Given the description of an element on the screen output the (x, y) to click on. 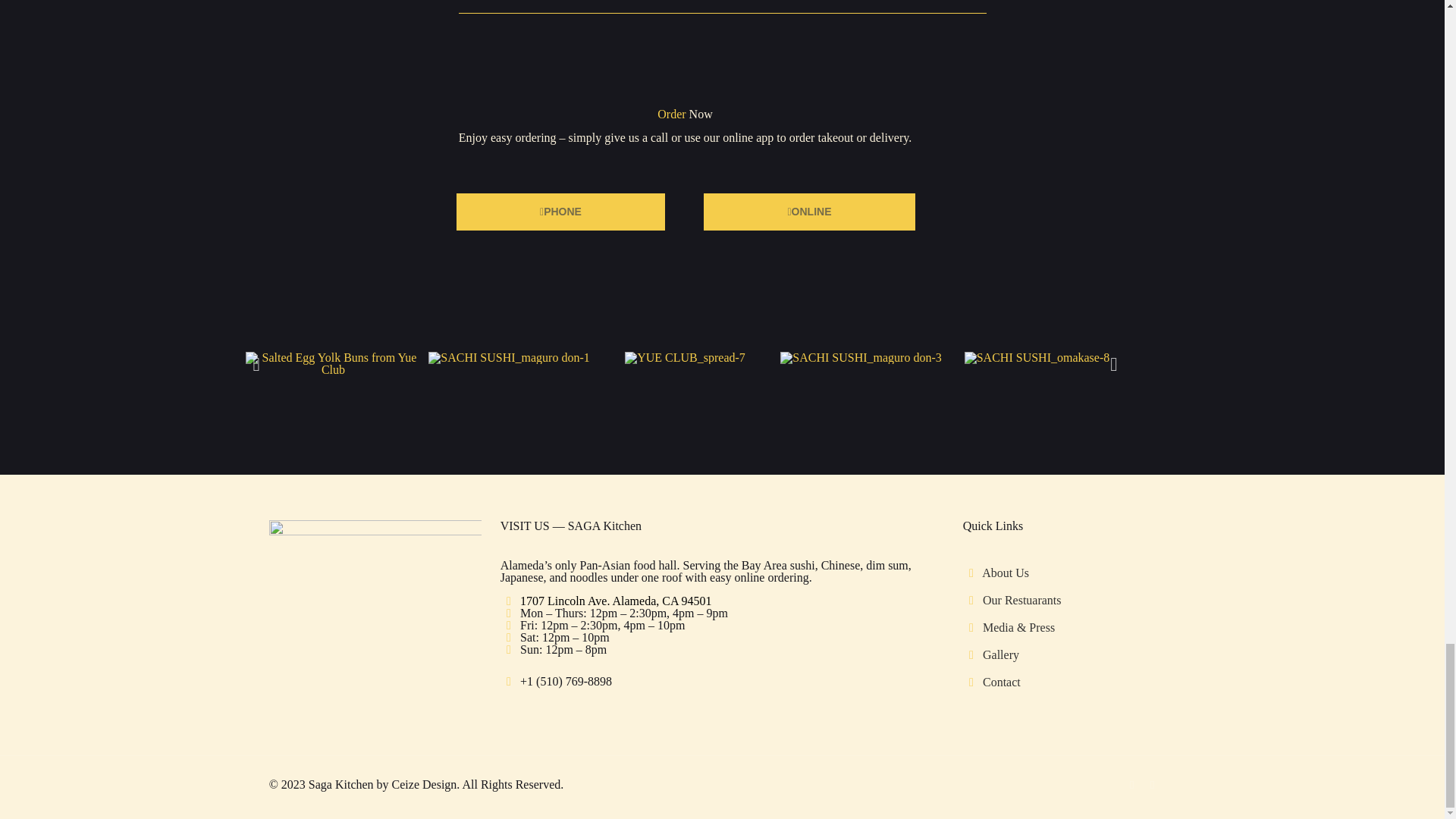
PHONE (561, 211)
Facebook (1132, 784)
ONLINE (808, 211)
1707 Lincoln Ave. Alameda, CA 94501 (615, 600)
Instagram (1152, 784)
